Given the description of an element on the screen output the (x, y) to click on. 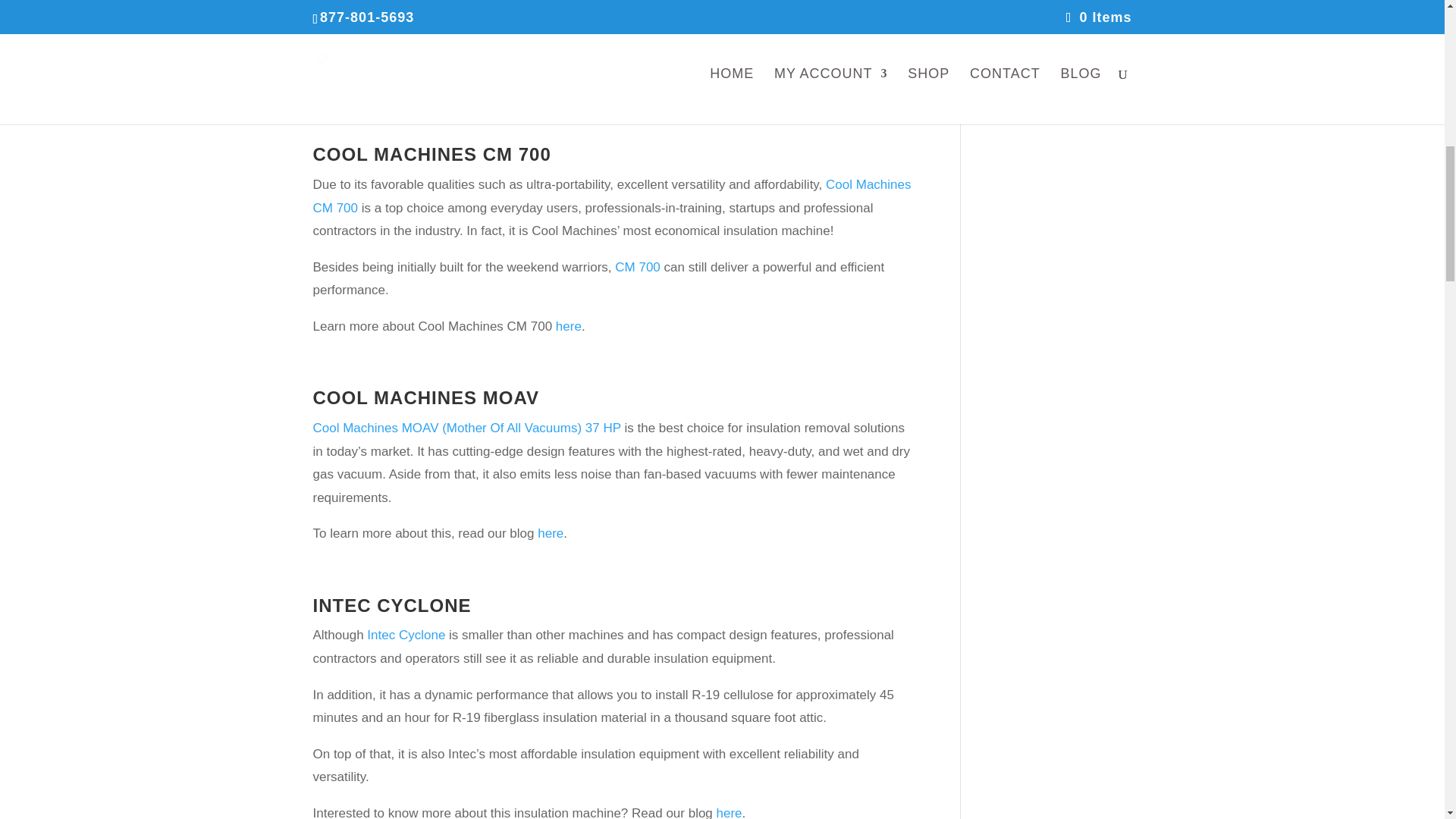
COOL MACHINES CM 700 (431, 154)
Cool Machines CM 700 (612, 196)
CM 700 (637, 267)
here (729, 812)
INTEC CYCLONE (391, 605)
here (568, 326)
Intec Cyclone (405, 635)
COOL MACHINES MOAV (425, 397)
here (550, 533)
